Given the description of an element on the screen output the (x, y) to click on. 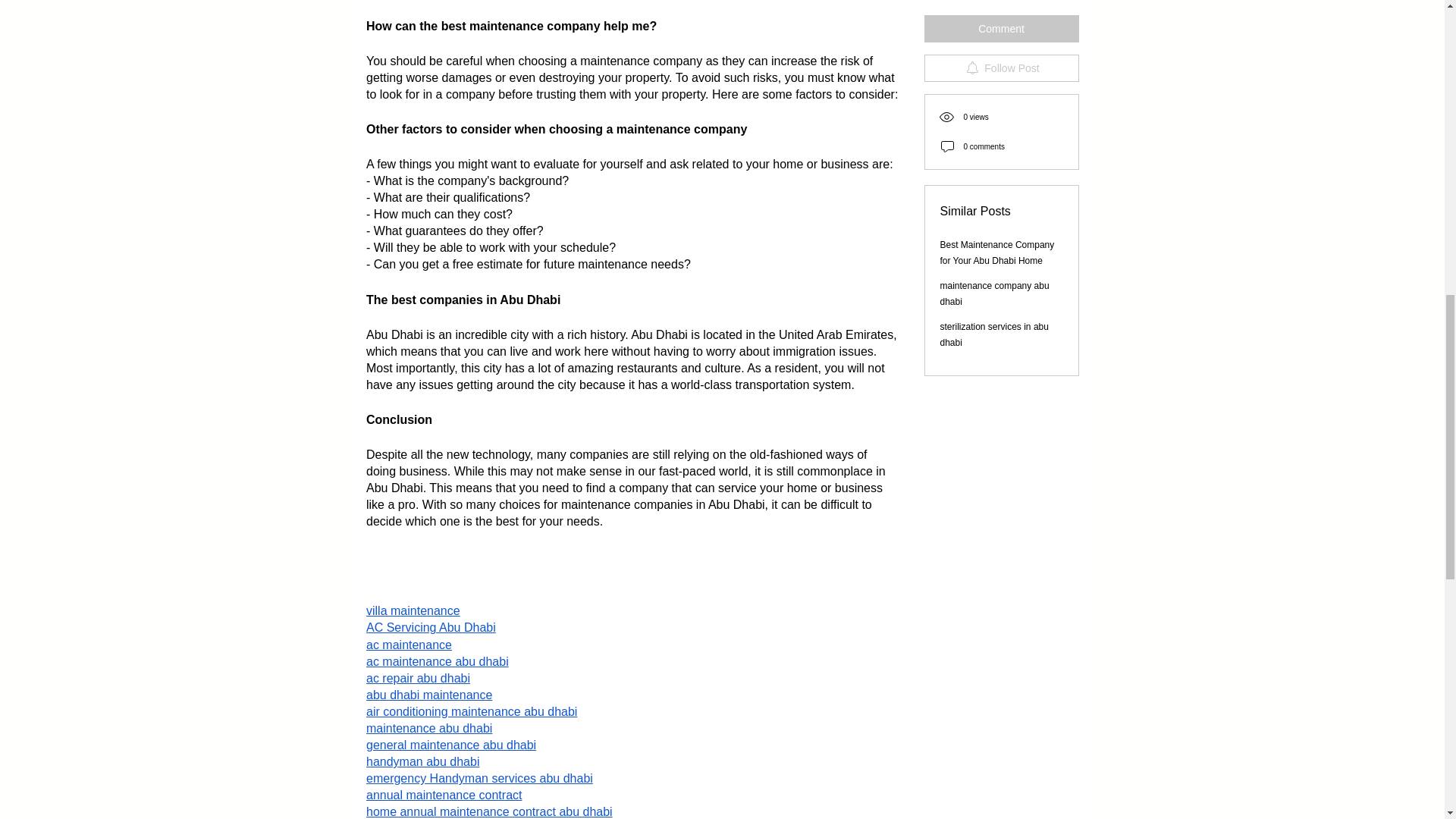
home annual maintenance contract abu dhabi (488, 811)
general maintenance abu dhabi (450, 744)
maintenance abu dhabi (428, 727)
villa maintenance (412, 610)
ac maintenance abu dhabi (436, 661)
ac maintenance (408, 644)
abu dhabi maintenance (428, 694)
air conditioning maintenance abu dhabi (470, 711)
handyman abu dhabi (422, 761)
emergency Handyman services abu dhabi (478, 778)
annual maintenance contract (443, 794)
ac repair abu dhabi (416, 677)
AC Servicing Abu Dhabi (430, 626)
